Given the description of an element on the screen output the (x, y) to click on. 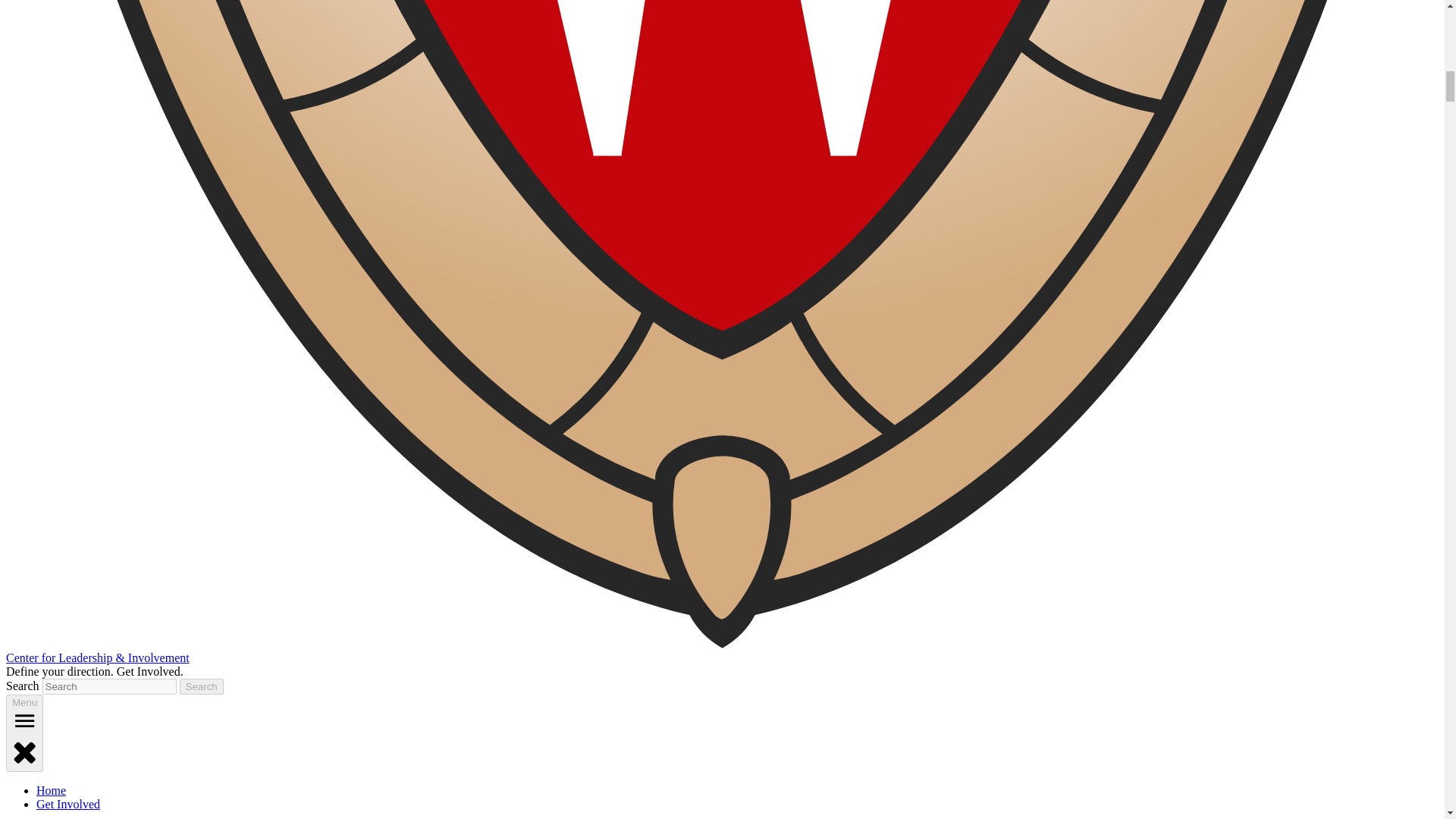
Home (50, 789)
Search (201, 686)
Search (201, 686)
Search (201, 686)
open menu (24, 720)
